Given the description of an element on the screen output the (x, y) to click on. 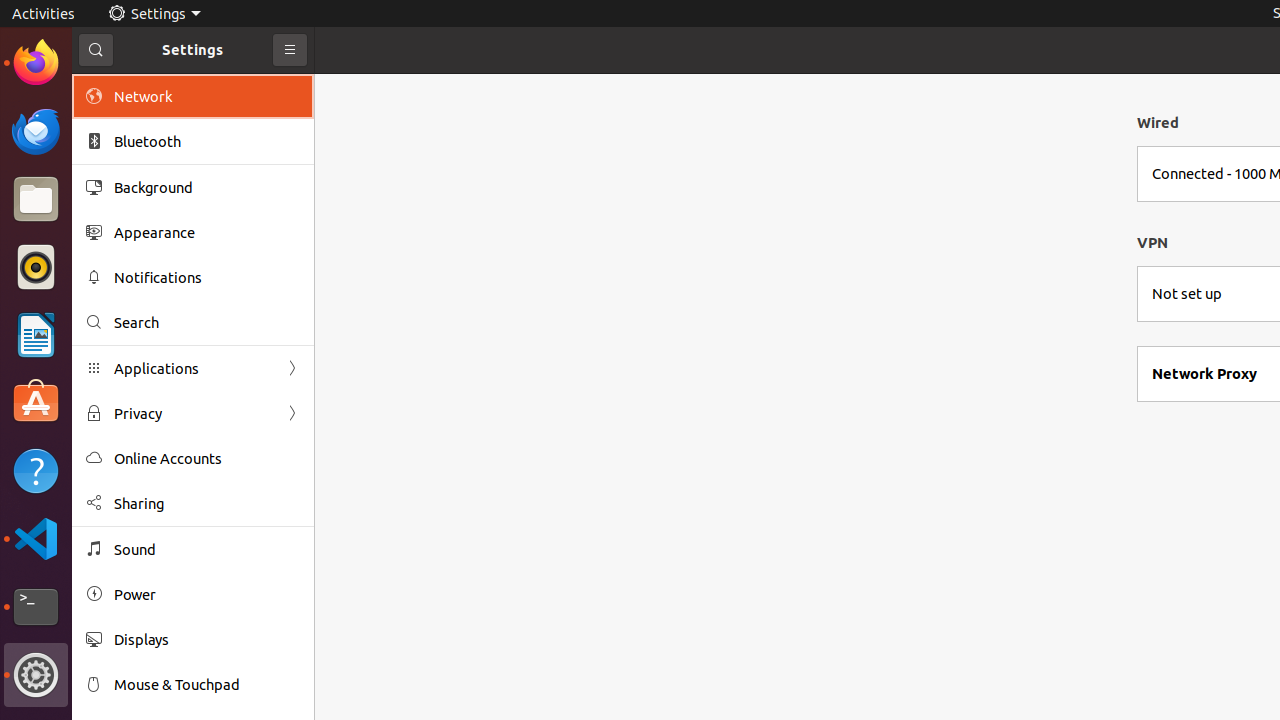
Online Accounts Element type: label (207, 458)
Notifications Element type: label (207, 277)
Settings Element type: menu (154, 13)
